Given the description of an element on the screen output the (x, y) to click on. 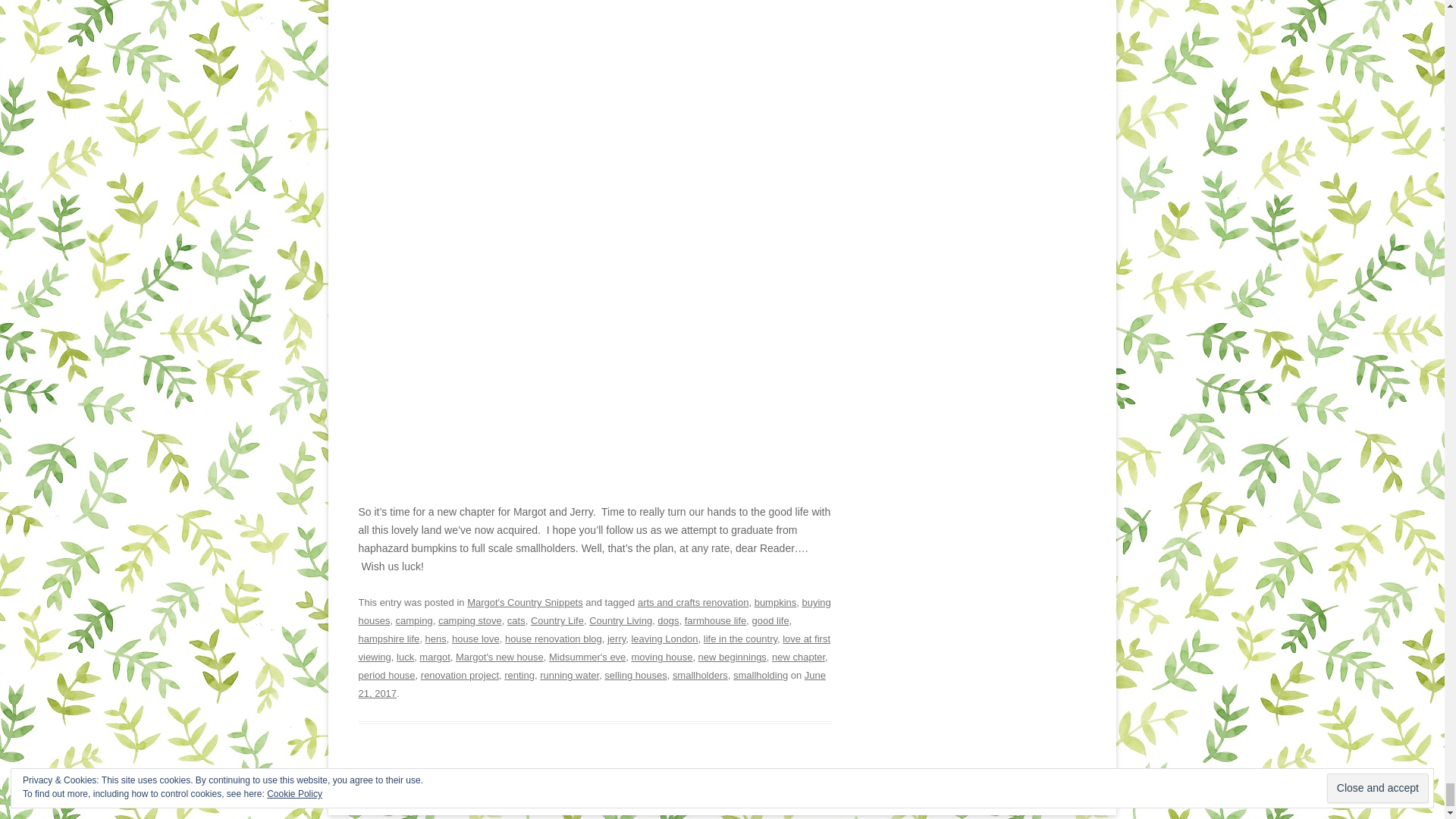
10:32 pm (591, 684)
